Given the description of an element on the screen output the (x, y) to click on. 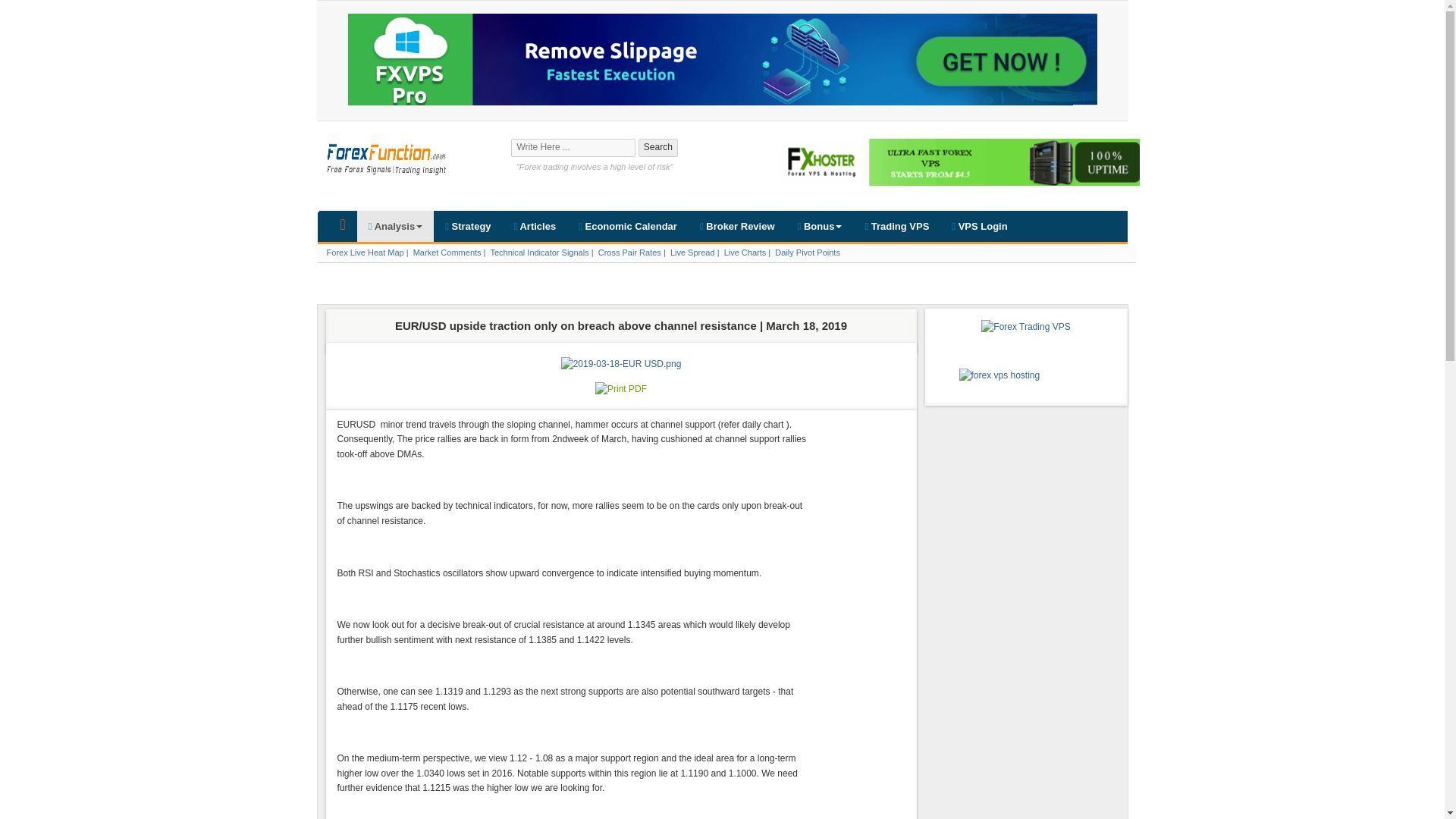
 Live Spread (691, 252)
Search (658, 147)
Search (658, 147)
Articles (534, 225)
Strategy (467, 225)
Analysis (394, 225)
 Forex Live Heat Map (364, 252)
Print PDF (620, 388)
VPS Login (978, 225)
Trading VPS (896, 225)
